Given the description of an element on the screen output the (x, y) to click on. 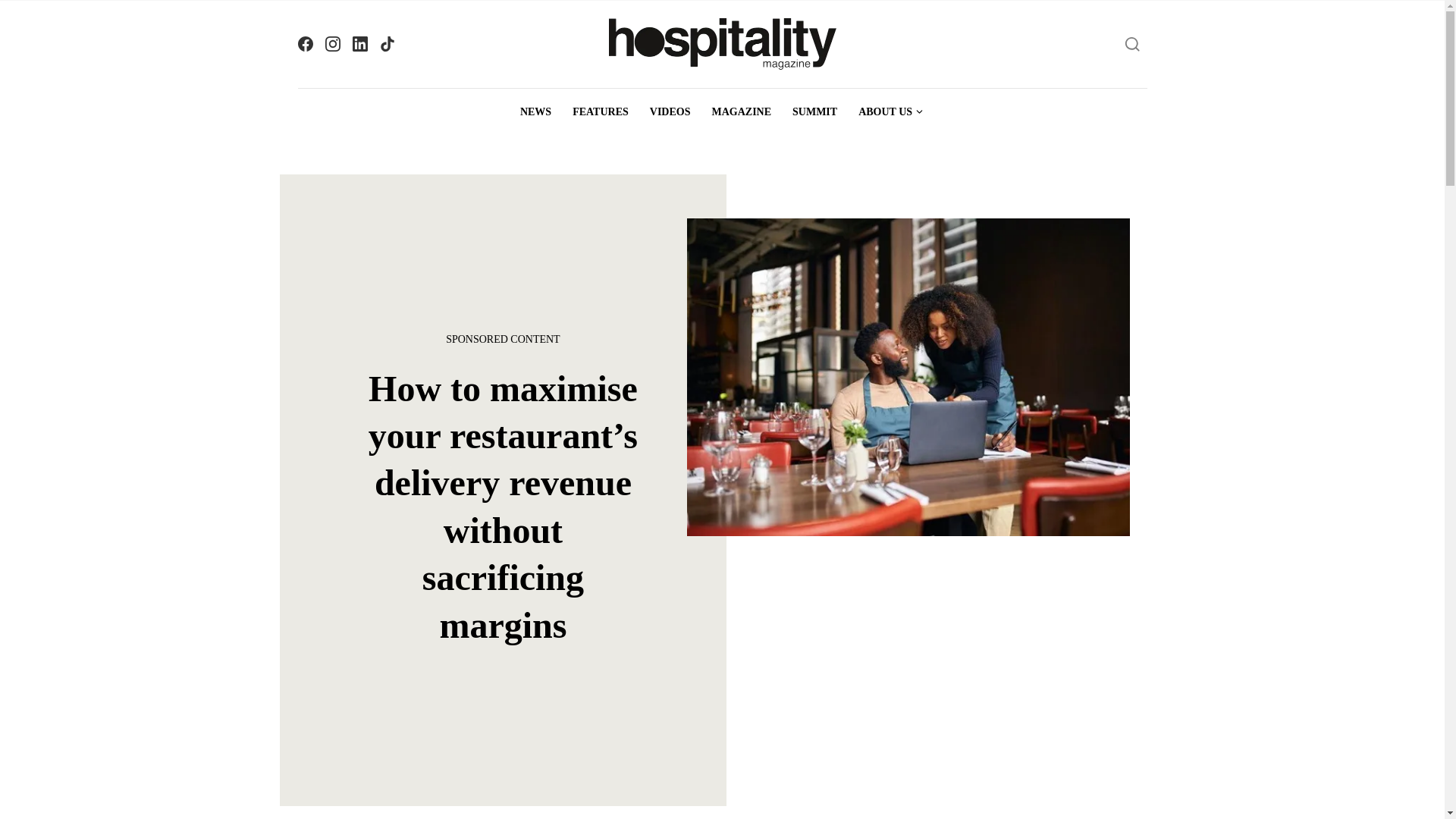
MAGAZINE (740, 111)
SPONSORED CONTENT (503, 338)
NEWS (535, 111)
FEATURES (600, 111)
VIDEOS (670, 111)
ABOUT US (890, 111)
SUMMIT (814, 111)
